Given the description of an element on the screen output the (x, y) to click on. 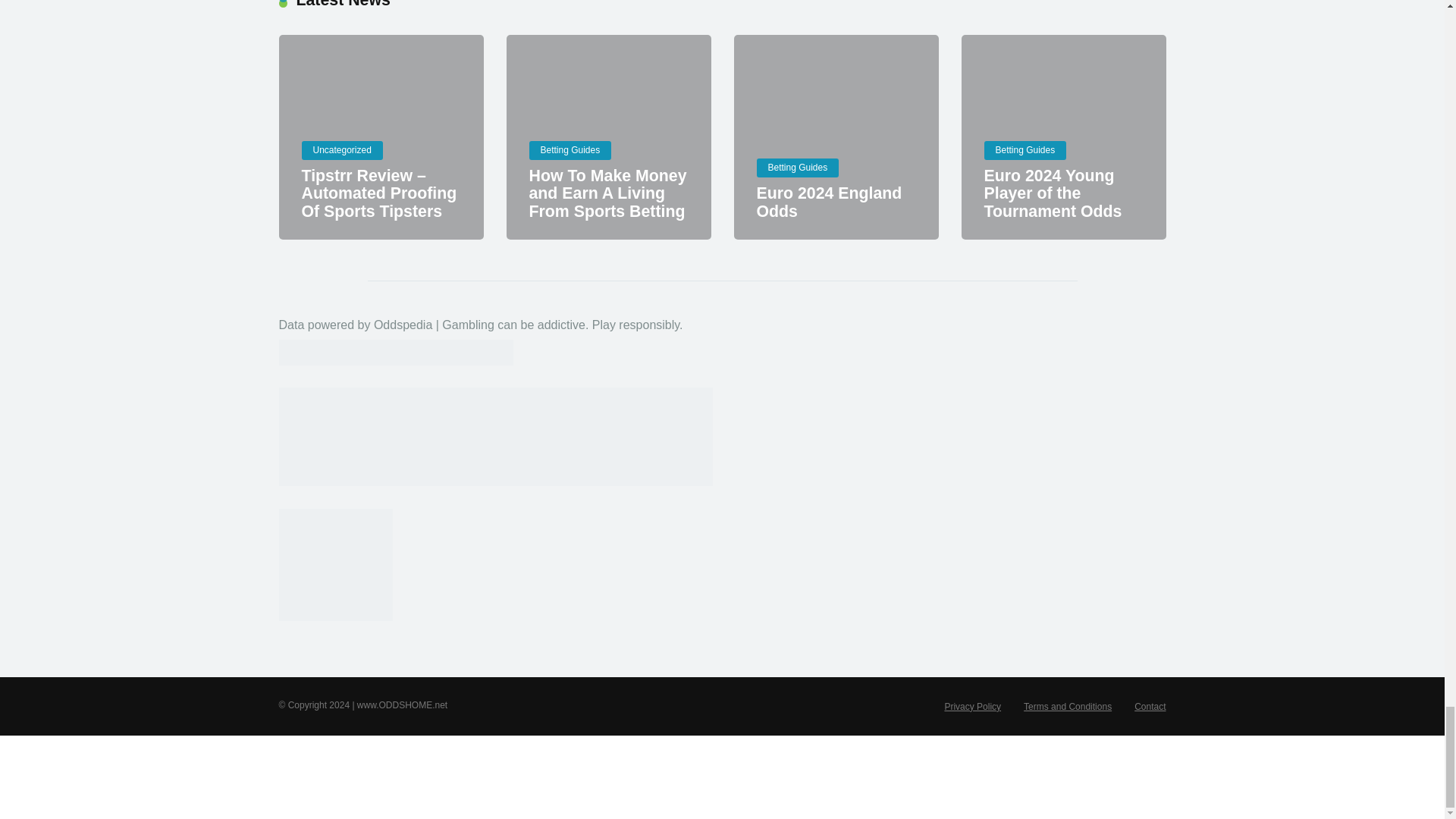
Terms and Conditions (1067, 706)
Contact (1150, 706)
Privacy Policy (972, 706)
